Given the description of an element on the screen output the (x, y) to click on. 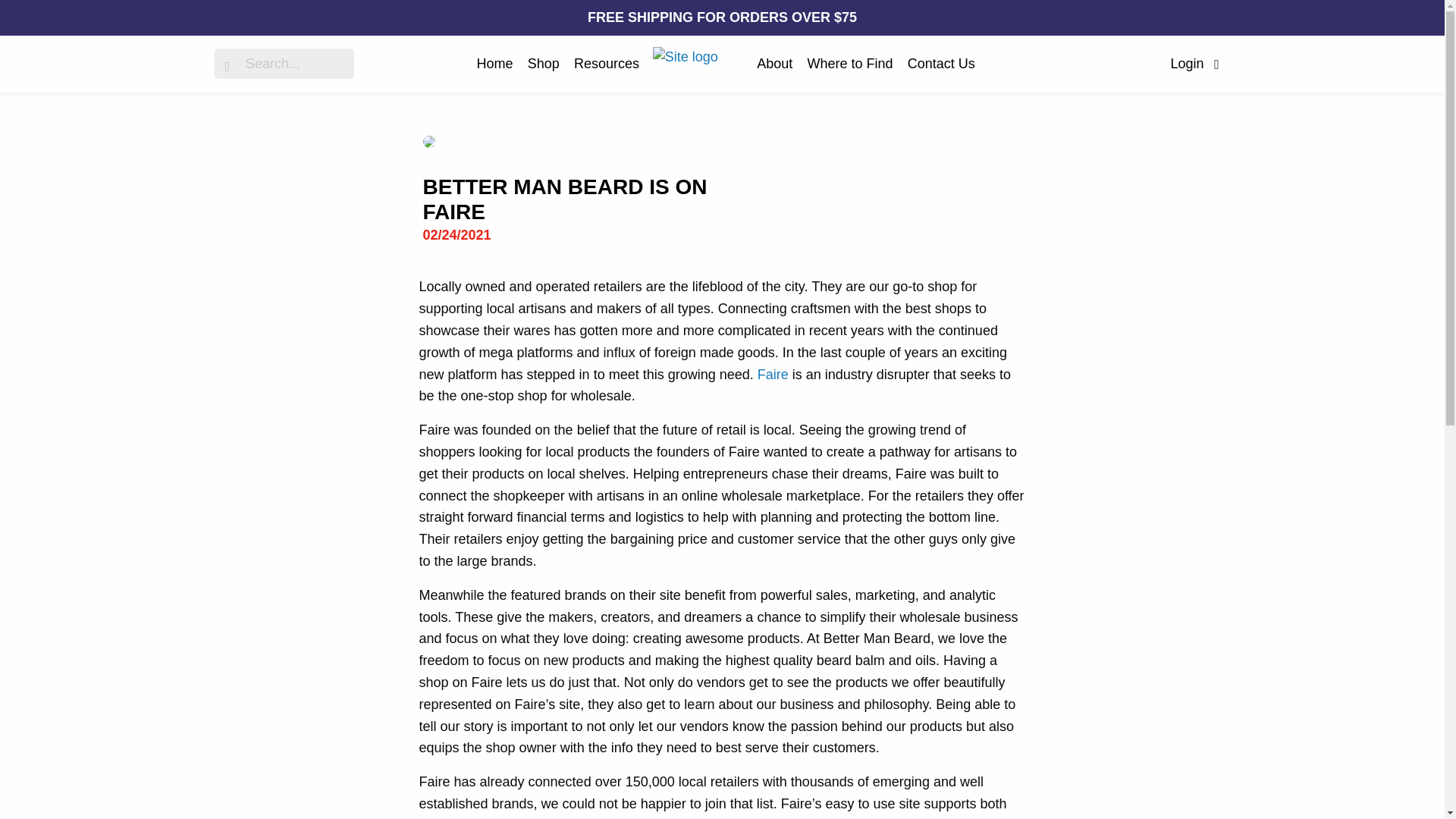
Resources (606, 63)
Shop (543, 63)
Home (495, 63)
About (774, 63)
